Given the description of an element on the screen output the (x, y) to click on. 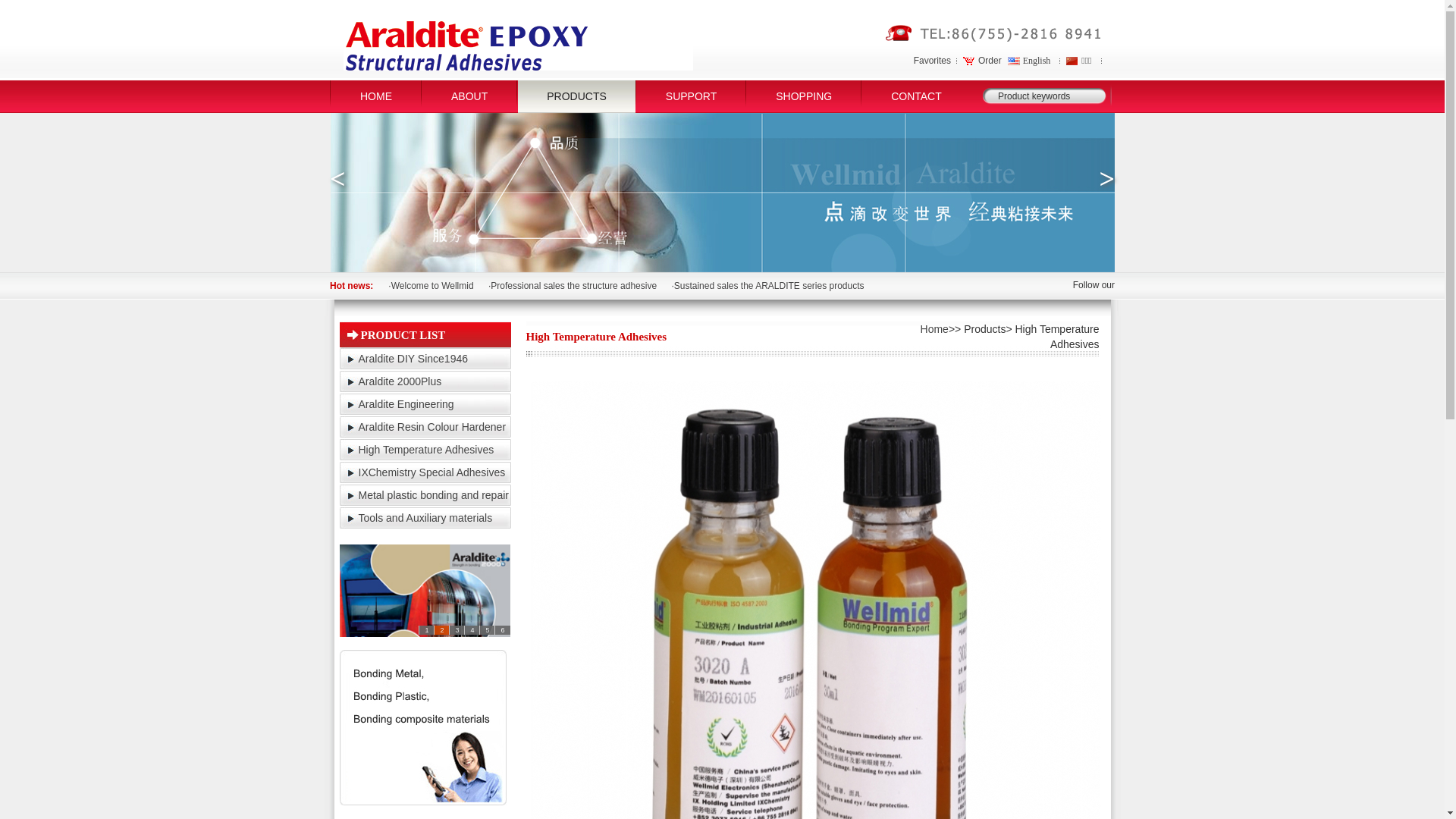
ABOUT Element type: text (469, 96)
High Temperature Adhesives Element type: text (425, 449)
IXChemistry Special Adhesives Element type: text (431, 472)
6 Element type: text (501, 629)
Araldite Engineering Element type: text (405, 404)
1 Element type: text (425, 629)
Araldite DIY Since1946 Element type: text (412, 358)
Order Element type: text (982, 60)
PRODUCTS Element type: text (576, 96)
Araldite 2000Plus Element type: text (399, 381)
2 Element type: text (440, 629)
5 Element type: text (486, 629)
CONTACT Element type: text (916, 96)
Metal plastic bonding and repair Element type: text (432, 495)
4 Element type: text (471, 629)
SHOPPING Element type: text (803, 96)
HOME Element type: text (375, 96)
3 Element type: text (456, 629)
SUPPORT Element type: text (691, 96)
Tools and Auxiliary materials Element type: text (424, 517)
Home Element type: text (934, 329)
Araldite Resin Colour Hardener Element type: text (431, 426)
English Element type: text (1030, 60)
Favorites Element type: text (931, 60)
